Given the description of an element on the screen output the (x, y) to click on. 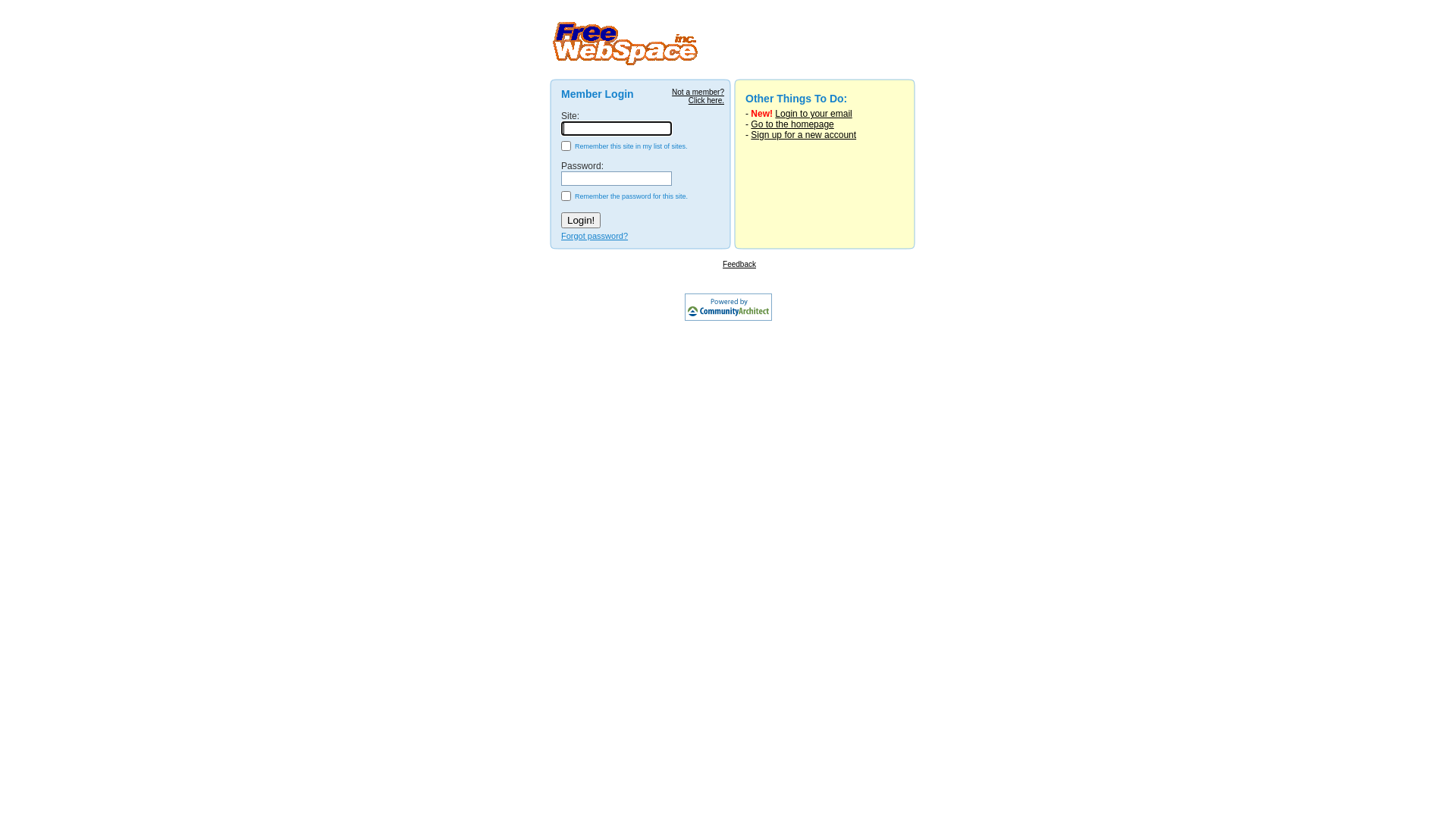
Go to the homepage Element type: text (791, 124)
true Element type: text (566, 145)
Sign up for a new account Element type: text (803, 134)
Login! Element type: text (580, 220)
Forgot password? Element type: text (594, 235)
Feedback Element type: text (739, 264)
Login to your email Element type: text (813, 113)
Not a member?
Click here. Element type: text (697, 95)
